Given the description of an element on the screen output the (x, y) to click on. 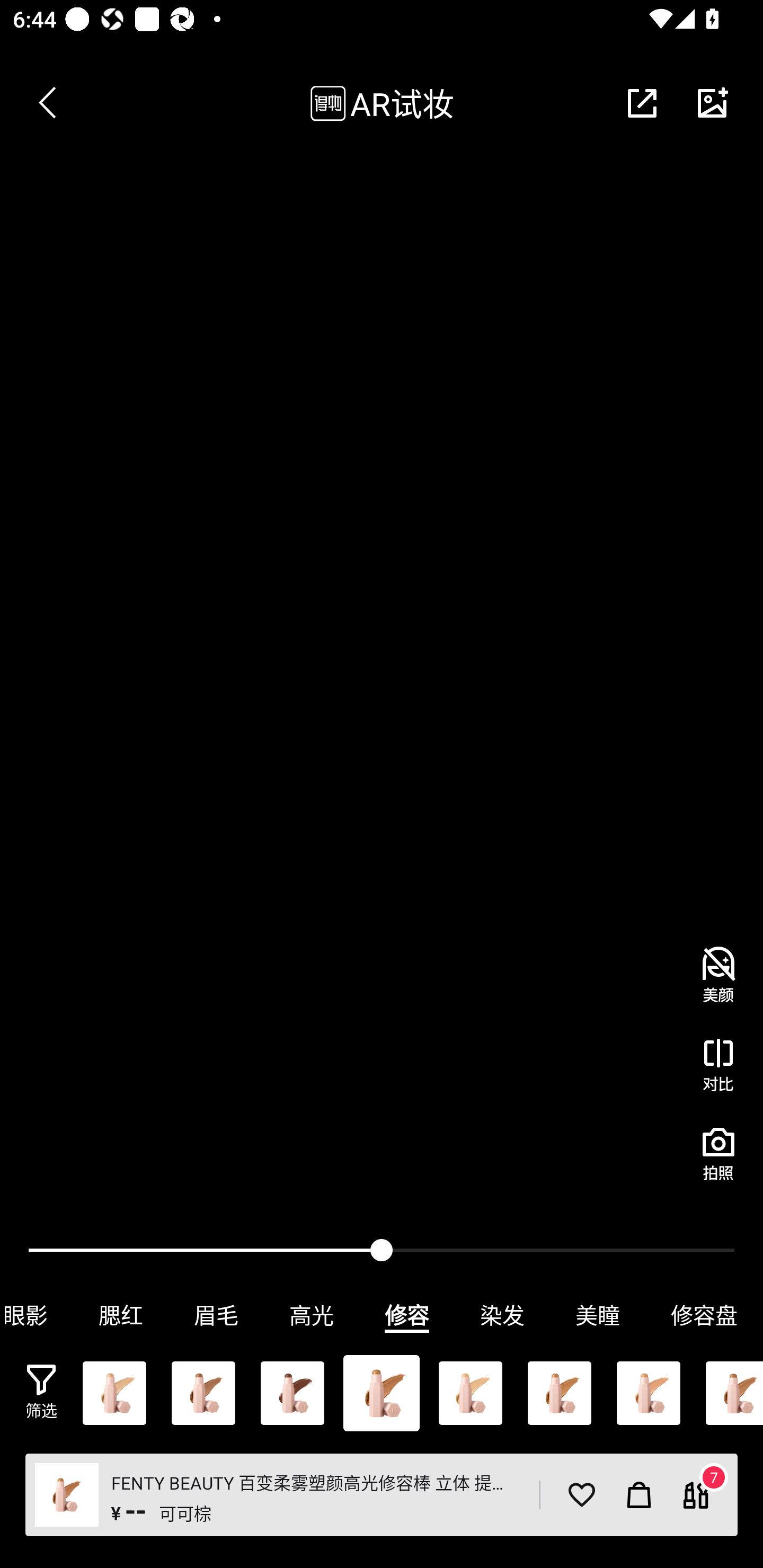
眼影 (36, 1315)
腮红 (120, 1315)
眉毛 (215, 1315)
高光 (311, 1315)
修容 (406, 1315)
染发 (502, 1315)
美瞳 (597, 1315)
修容盘 (704, 1315)
筛选 (41, 1392)
